Given the description of an element on the screen output the (x, y) to click on. 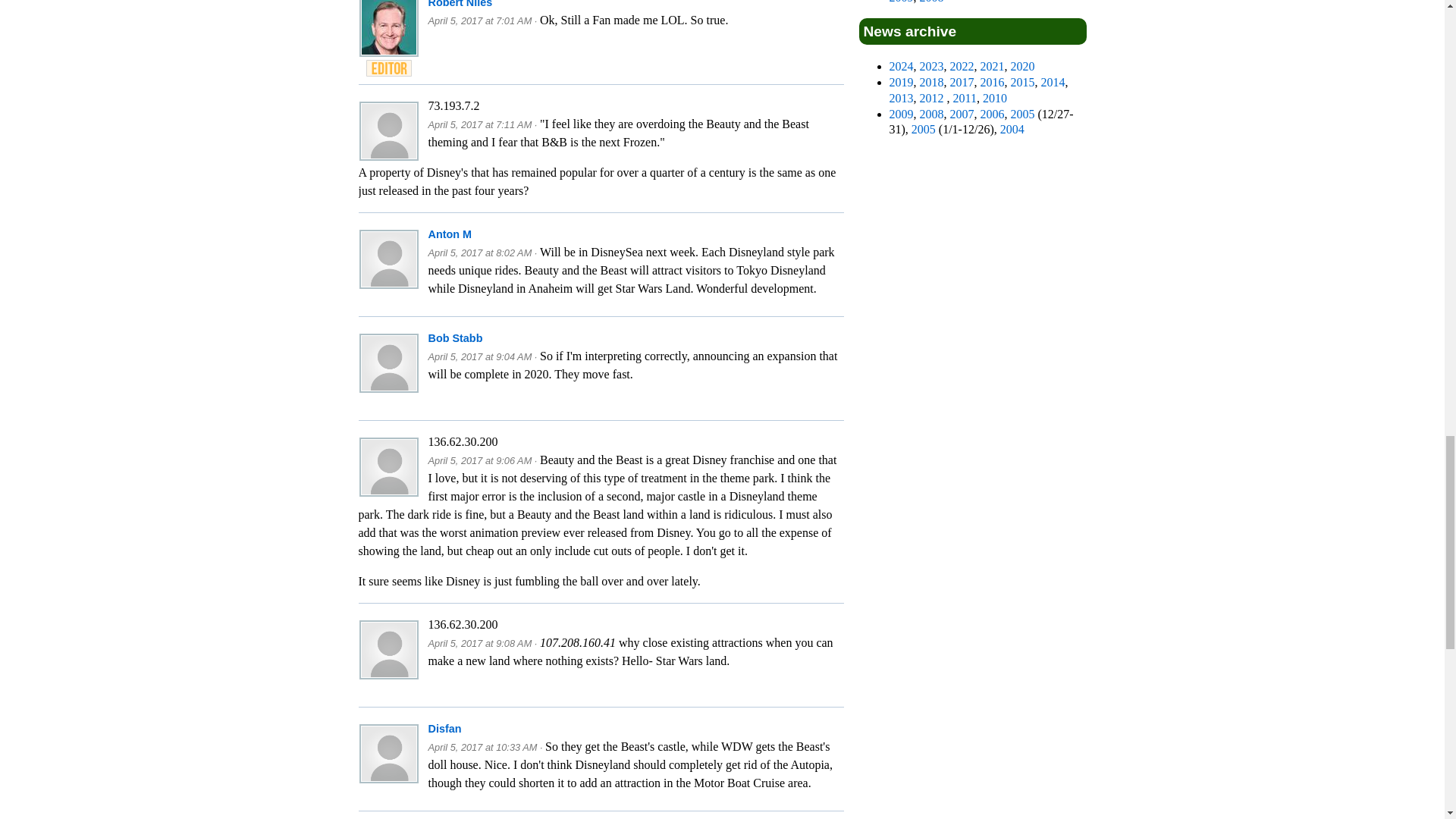
Anton M (449, 234)
Bob Stabb (454, 337)
Robert Niles (460, 4)
Disfan (444, 728)
